Given the description of an element on the screen output the (x, y) to click on. 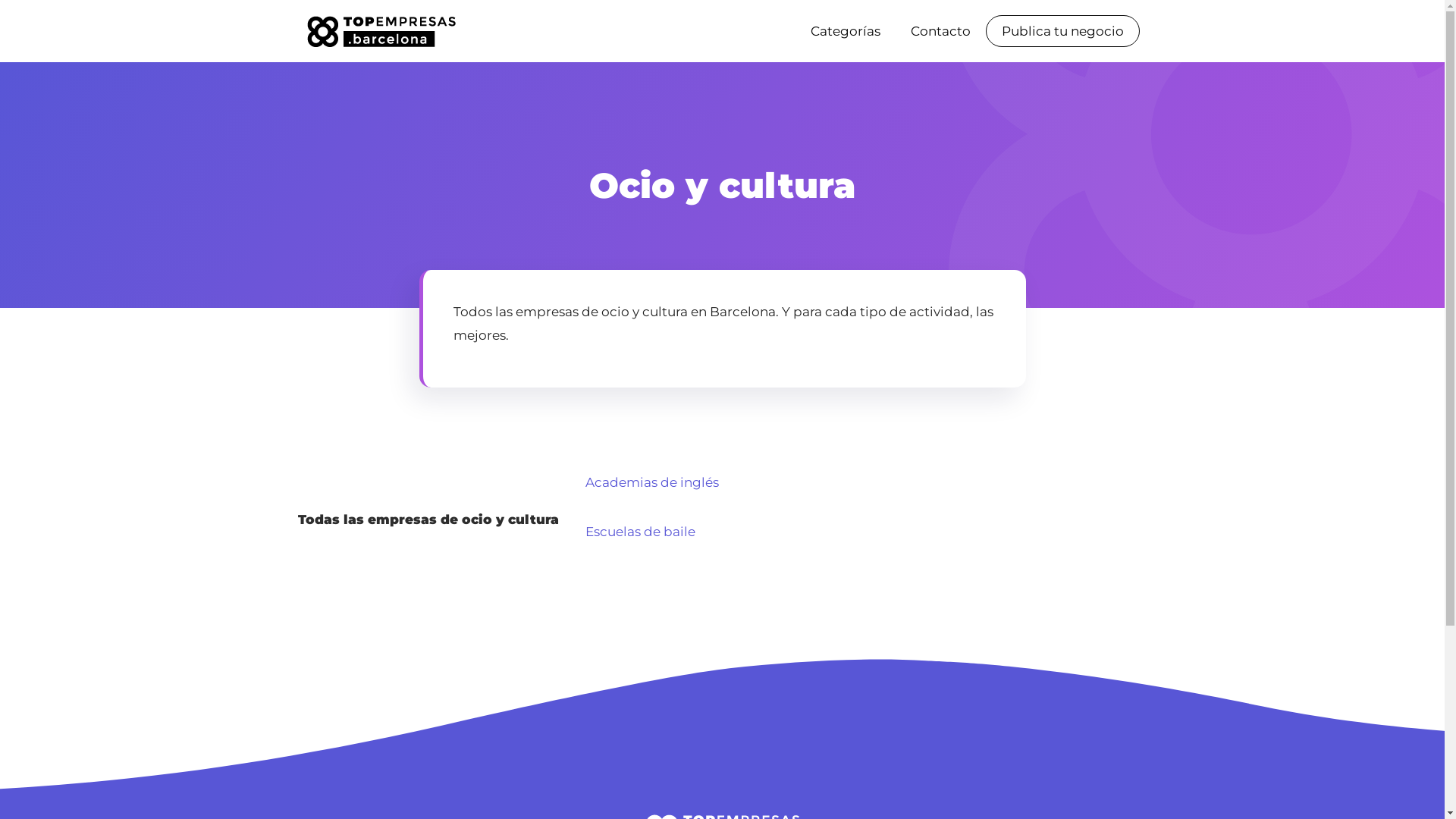
Publica tu negocio Element type: text (1061, 30)
Contacto Element type: text (939, 30)
Escuelas de baile Element type: text (640, 531)
